Given the description of an element on the screen output the (x, y) to click on. 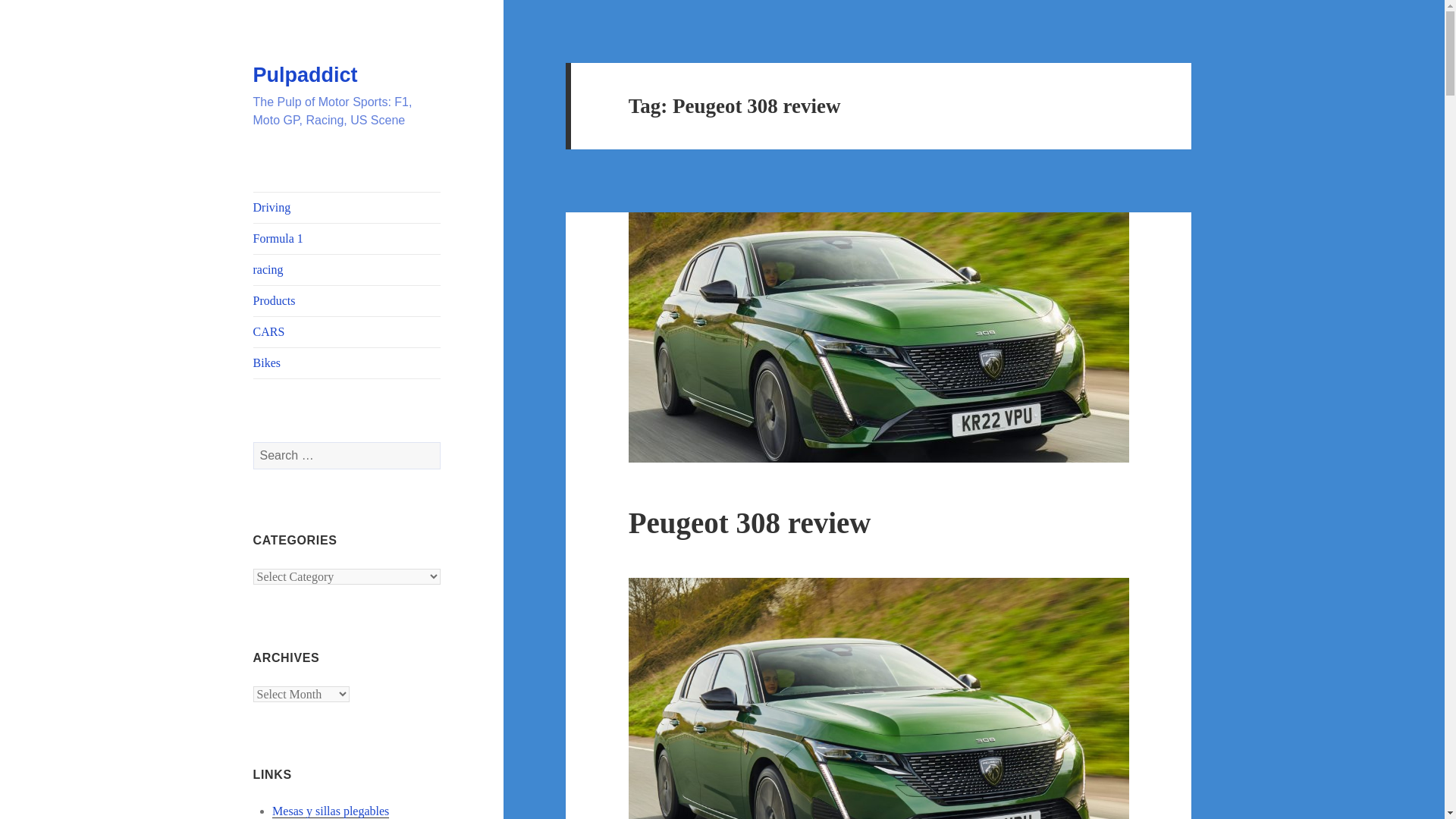
Driving (347, 207)
racing (347, 269)
Mesas y sillas plegables (330, 811)
Products (347, 300)
CARS (347, 331)
Bikes (347, 363)
Formula 1 (347, 238)
Pulpaddict (305, 74)
